Given the description of an element on the screen output the (x, y) to click on. 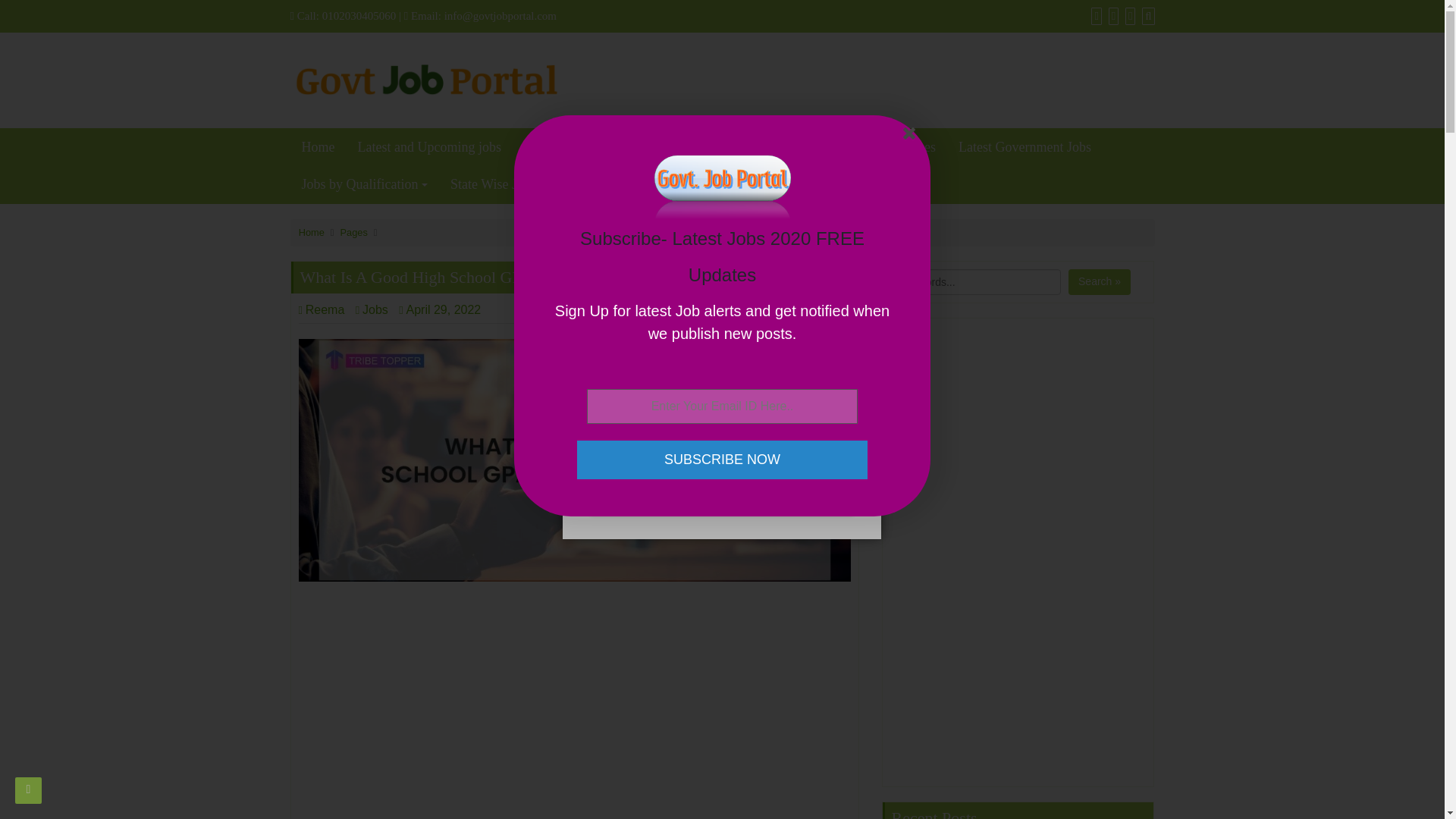
Home (317, 147)
Government Schemes (876, 147)
Close (911, 136)
0102030405060 (358, 15)
Exam Results 2020 (577, 147)
Latest Government Jobs (1024, 147)
Name (724, 438)
Contact us (764, 147)
About us (682, 147)
Jobs by Qualification (364, 184)
Email (724, 388)
Latest and Upcoming jobs (429, 147)
Advertisement (574, 704)
